Given the description of an element on the screen output the (x, y) to click on. 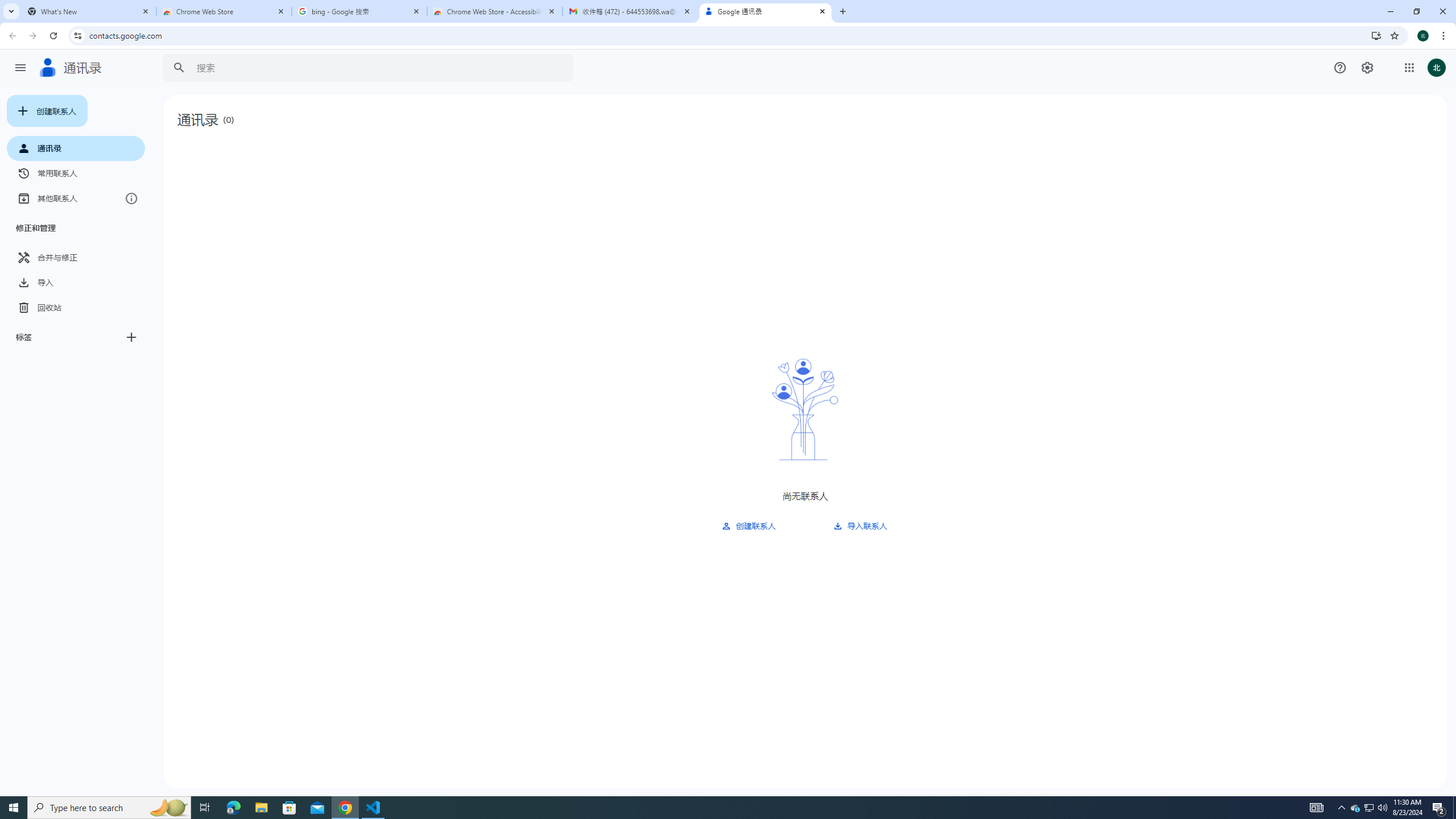
What's New (88, 11)
Chrome Web Store - Accessibility (494, 11)
